Given the description of an element on the screen output the (x, y) to click on. 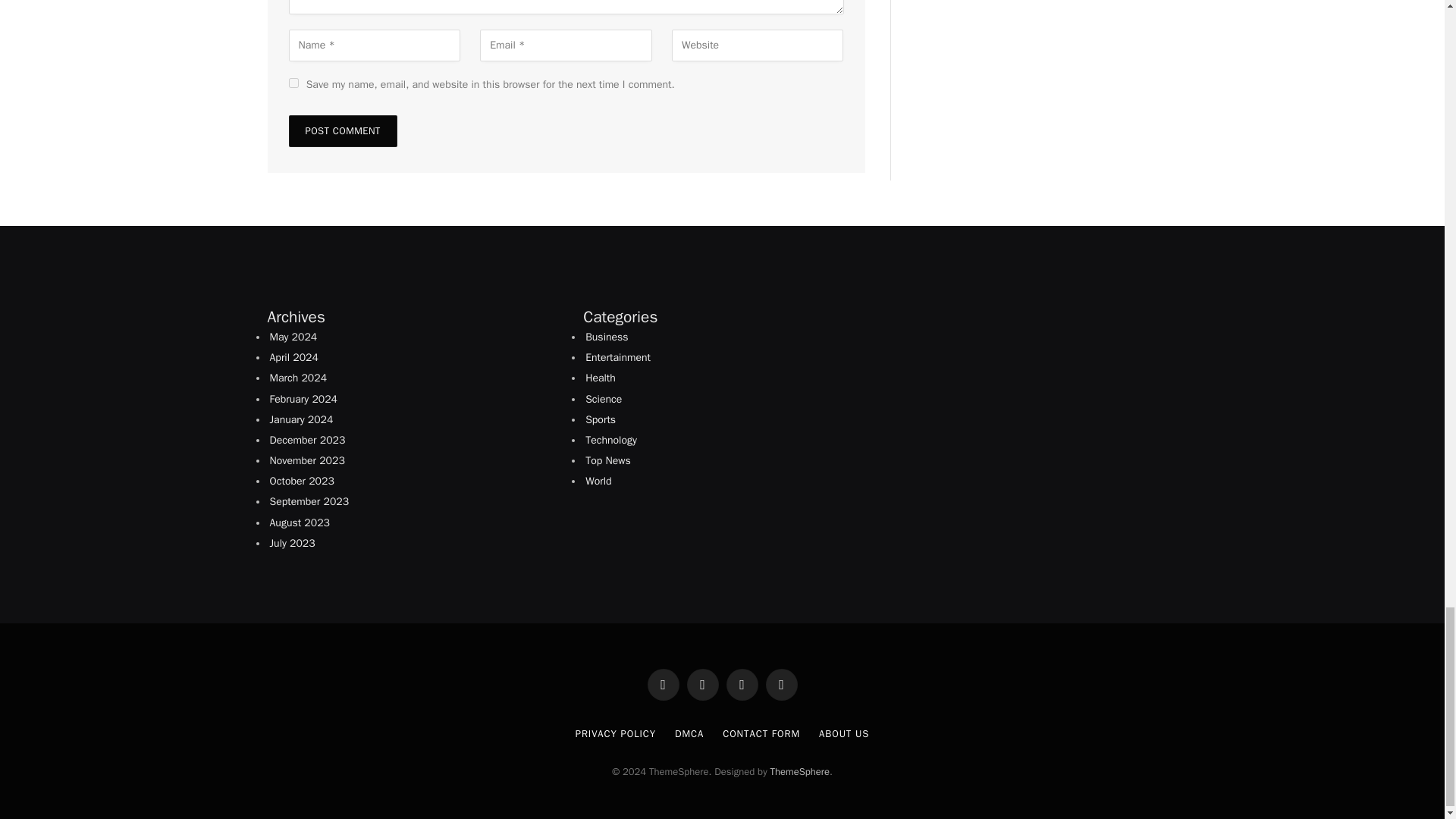
yes (293, 82)
Post Comment (342, 131)
